Given the description of an element on the screen output the (x, y) to click on. 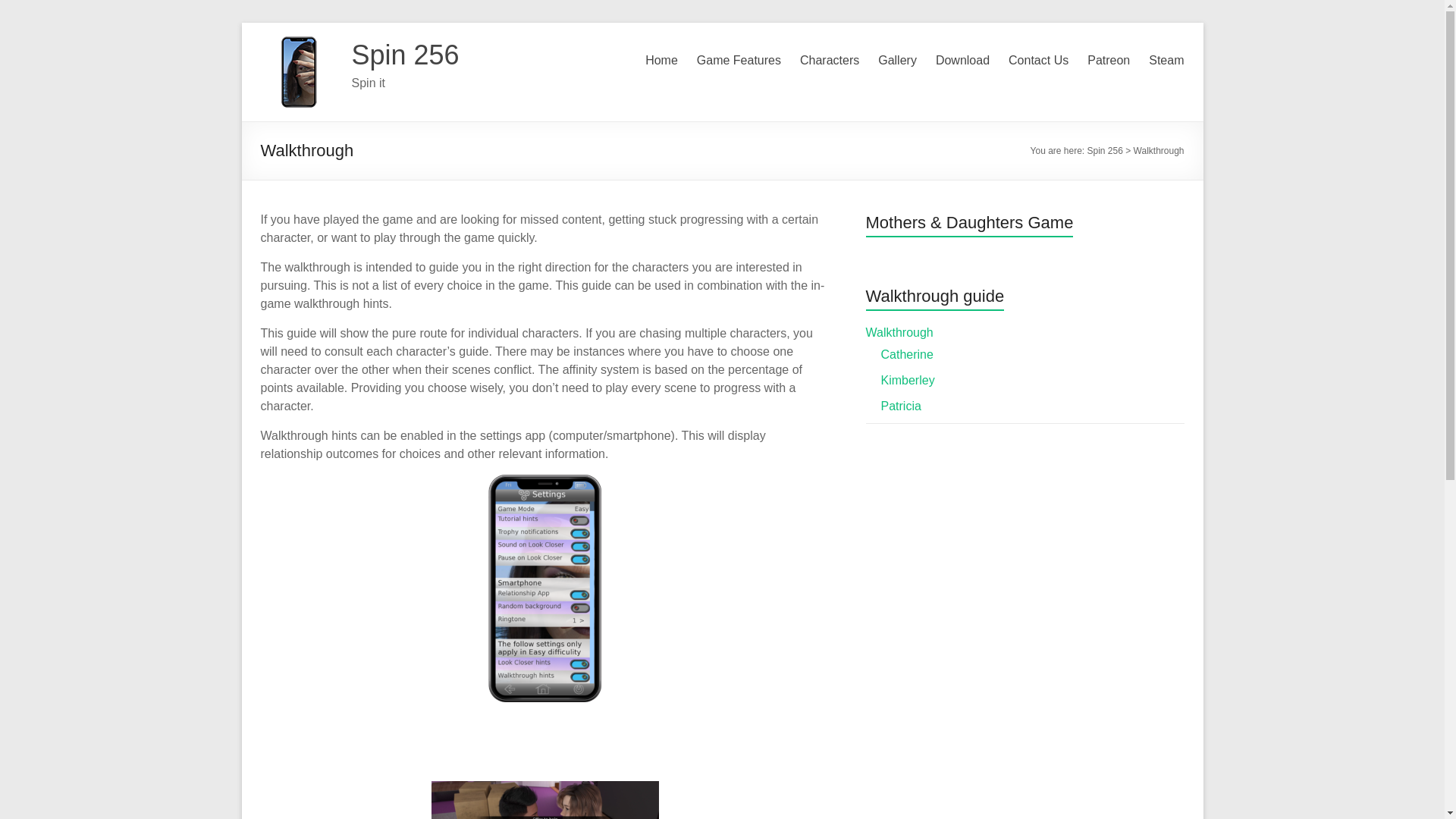
Spin 256 (406, 54)
Spin 256 (406, 54)
Gallery (897, 60)
Patricia (900, 405)
Patreon (1108, 60)
Home (661, 60)
Walkthrough (899, 332)
Kimberley (907, 379)
Characters (829, 60)
